Given the description of an element on the screen output the (x, y) to click on. 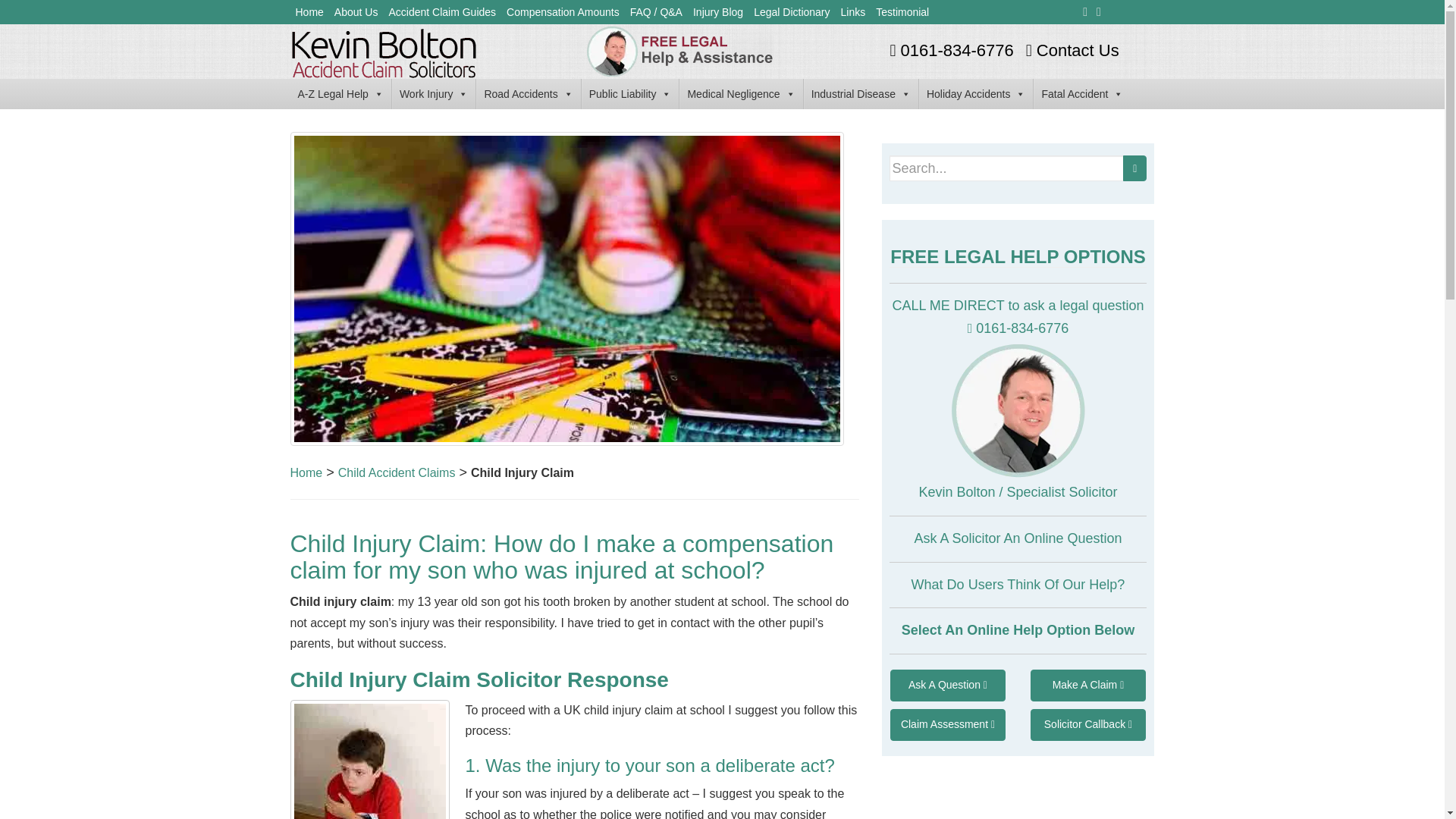
Accident Claim Guides (441, 12)
A-Z Legal Help (339, 93)
Legal Dictionary (791, 12)
Compensation Amounts (562, 12)
Home (305, 472)
Child Injury Claim (521, 472)
Compensation Amounts (562, 12)
Links (852, 12)
Accident Claim Guides (441, 12)
Contact Us (1070, 49)
